Given the description of an element on the screen output the (x, y) to click on. 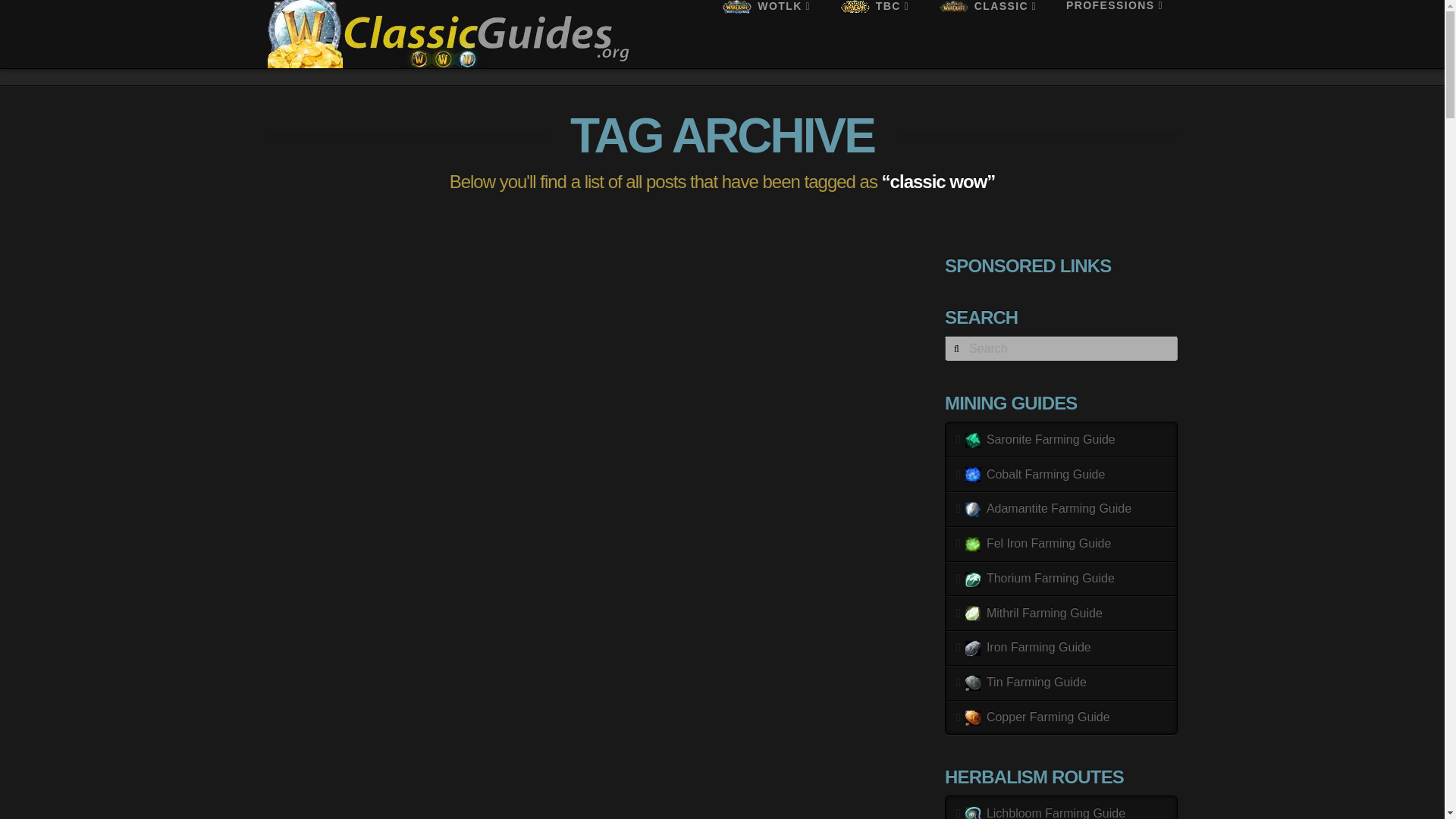
WOTLK (765, 33)
TBC (874, 33)
PROFESSIONS (1114, 33)
CLASSIC (987, 33)
